Given the description of an element on the screen output the (x, y) to click on. 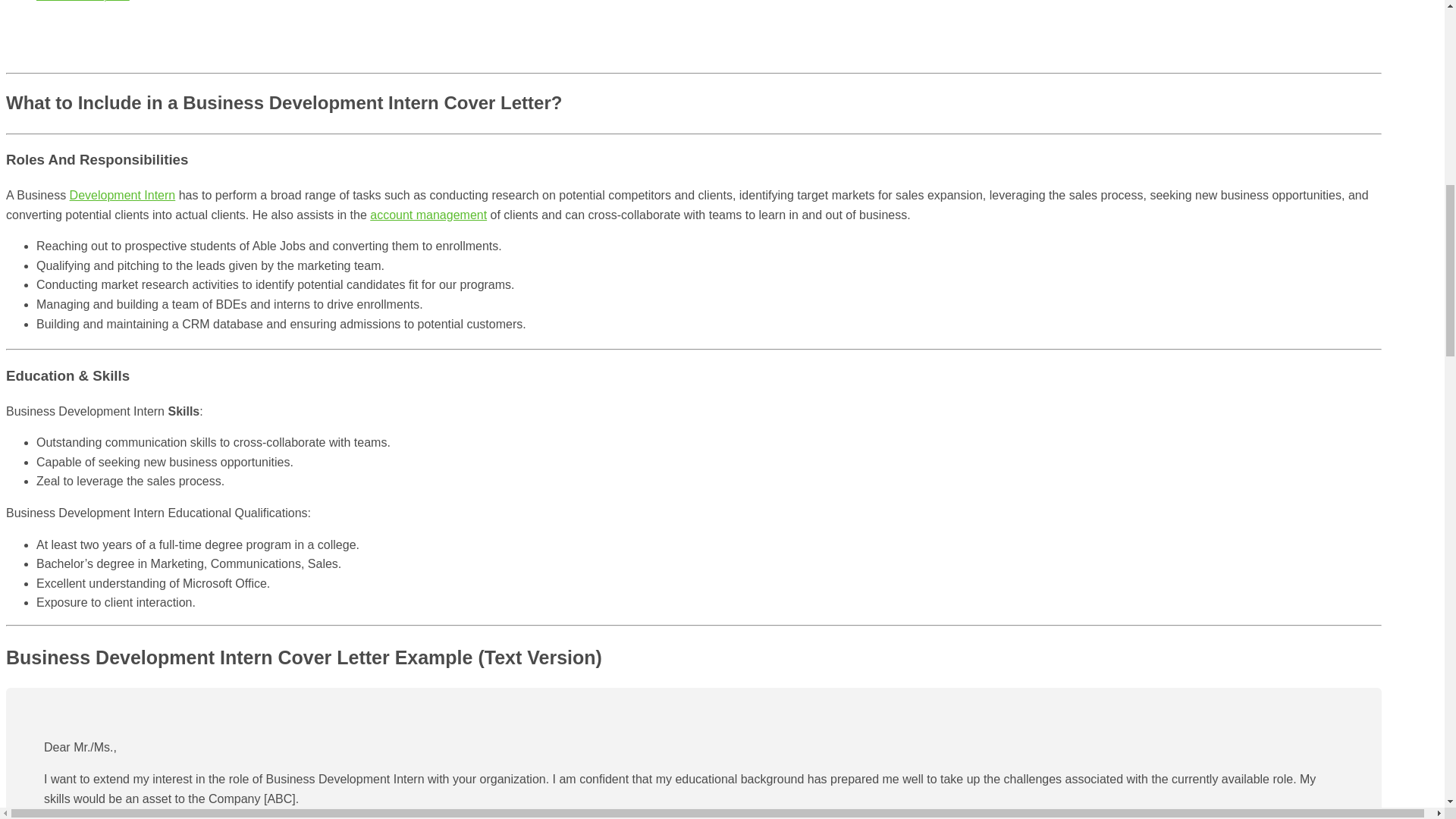
Business Development (82, 0)
Development Intern (122, 195)
account management (427, 214)
